Given the description of an element on the screen output the (x, y) to click on. 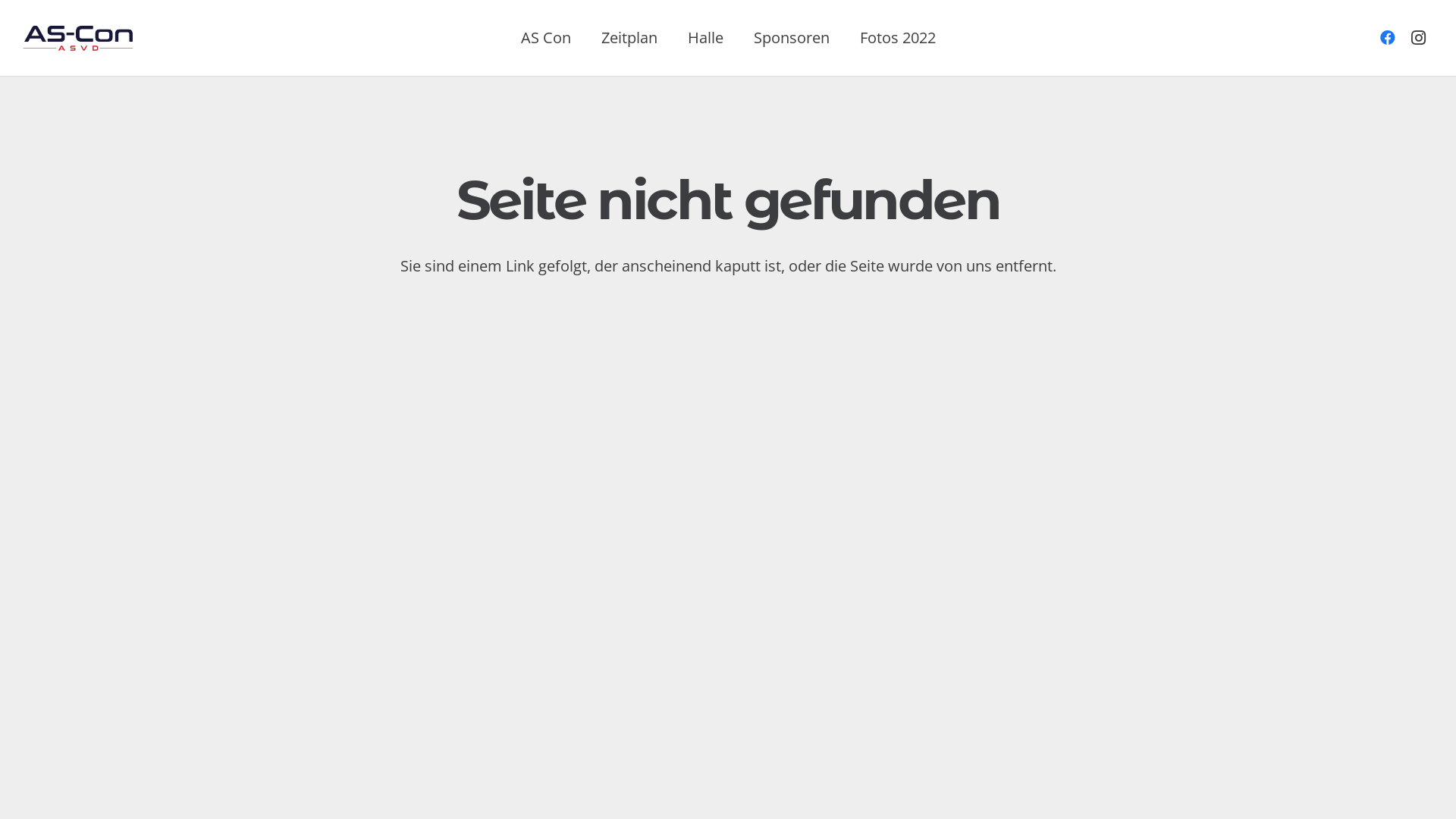
Instagram Element type: hover (1417, 37)
Sponsoren Element type: text (791, 37)
AS Con Element type: text (545, 37)
Facebook Element type: hover (1387, 37)
Halle Element type: text (704, 37)
Fotos 2022 Element type: text (897, 37)
Zeitplan Element type: text (628, 37)
